Given the description of an element on the screen output the (x, y) to click on. 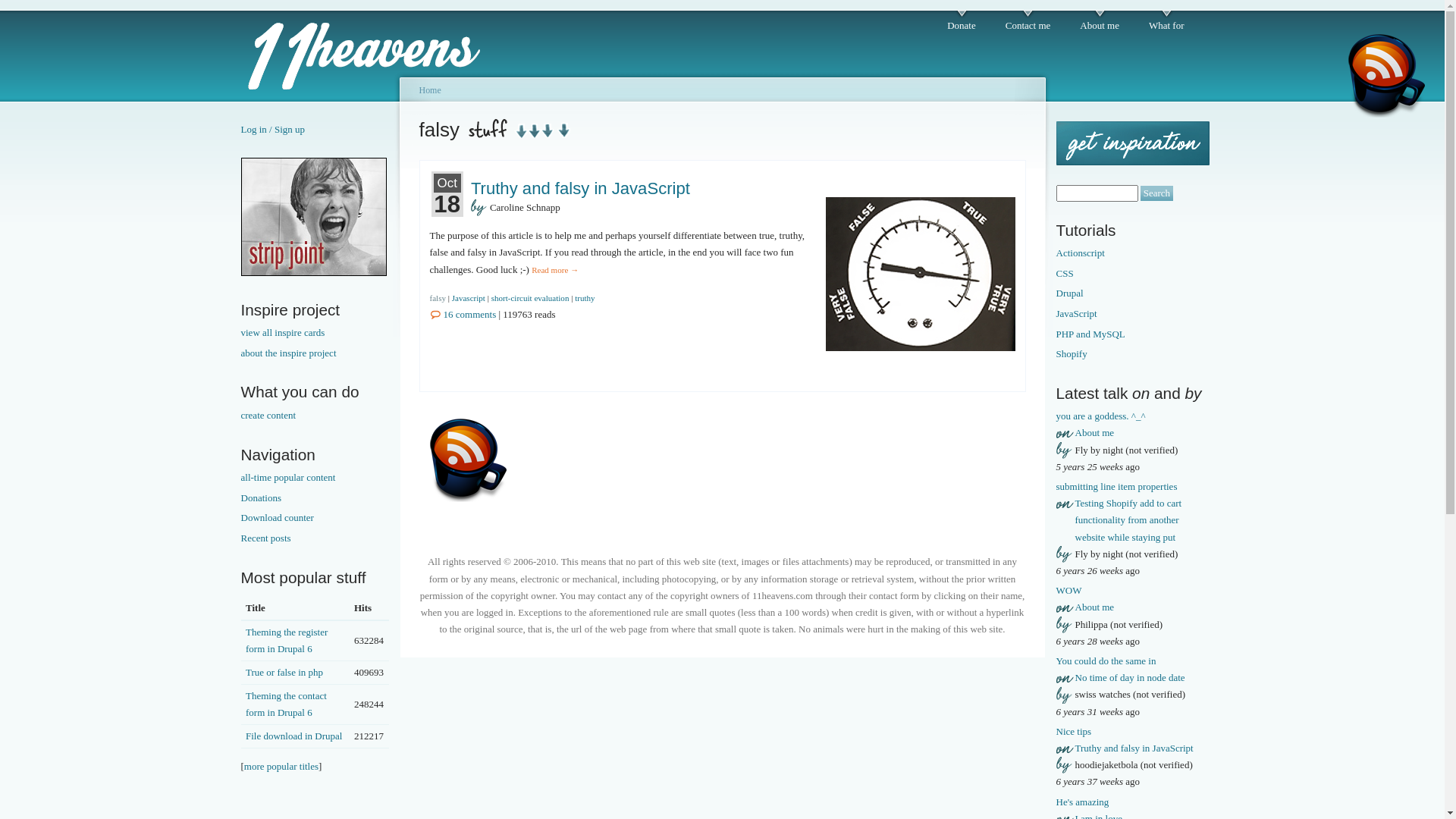
Recent posts Element type: text (315, 538)
Actionscript Element type: text (1129, 252)
Theming the register form in Drupal 6 Element type: text (286, 640)
falsy Element type: text (437, 297)
Donations Element type: text (315, 497)
Feed Element type: hover (466, 459)
Search Element type: text (1156, 193)
create content Element type: text (315, 415)
Truthy and falsy in JavaScript Element type: text (1134, 747)
view all inspire cards Element type: text (315, 332)
truthy Element type: text (584, 297)
About me Element type: text (1099, 21)
No time of day in node date Element type: text (1130, 677)
About me Element type: text (1094, 432)
He's amazing Element type: text (1081, 801)
Get some inspiration Element type: hover (1131, 143)
16 comments Element type: text (462, 314)
Truthy and falsy in JavaScript Element type: text (580, 187)
Download counter Element type: text (315, 517)
My inner life in its gory details. Element type: hover (313, 272)
File download in Drupal Element type: text (293, 735)
Donate Element type: text (961, 21)
Home Element type: text (429, 89)
About me Element type: text (1094, 606)
PHP and MySQL Element type: text (1129, 334)
Enter the terms you wish to search for. Element type: hover (1096, 193)
about the inspire project Element type: text (315, 353)
You could do the same in Element type: text (1105, 660)
you are a goddess. ^_^ Element type: text (1100, 415)
all-time popular content Element type: text (315, 477)
Theming the contact form in Drupal 6 Element type: text (285, 704)
True or false in php Element type: text (284, 671)
more popular titles Element type: text (281, 765)
CSS Element type: text (1129, 273)
short-circuit evaluation Element type: text (530, 297)
WOW Element type: text (1068, 590)
Log in / Sign up Element type: text (273, 128)
Contact me Element type: text (1028, 21)
Feed Element type: hover (1385, 74)
Nice tips Element type: text (1073, 731)
submitting line item properties Element type: text (1115, 486)
JavaScript Element type: text (1129, 313)
Shopify Element type: text (1129, 353)
What for Element type: text (1166, 21)
Javascript Element type: text (468, 297)
Drupal Element type: text (1129, 293)
